Given the description of an element on the screen output the (x, y) to click on. 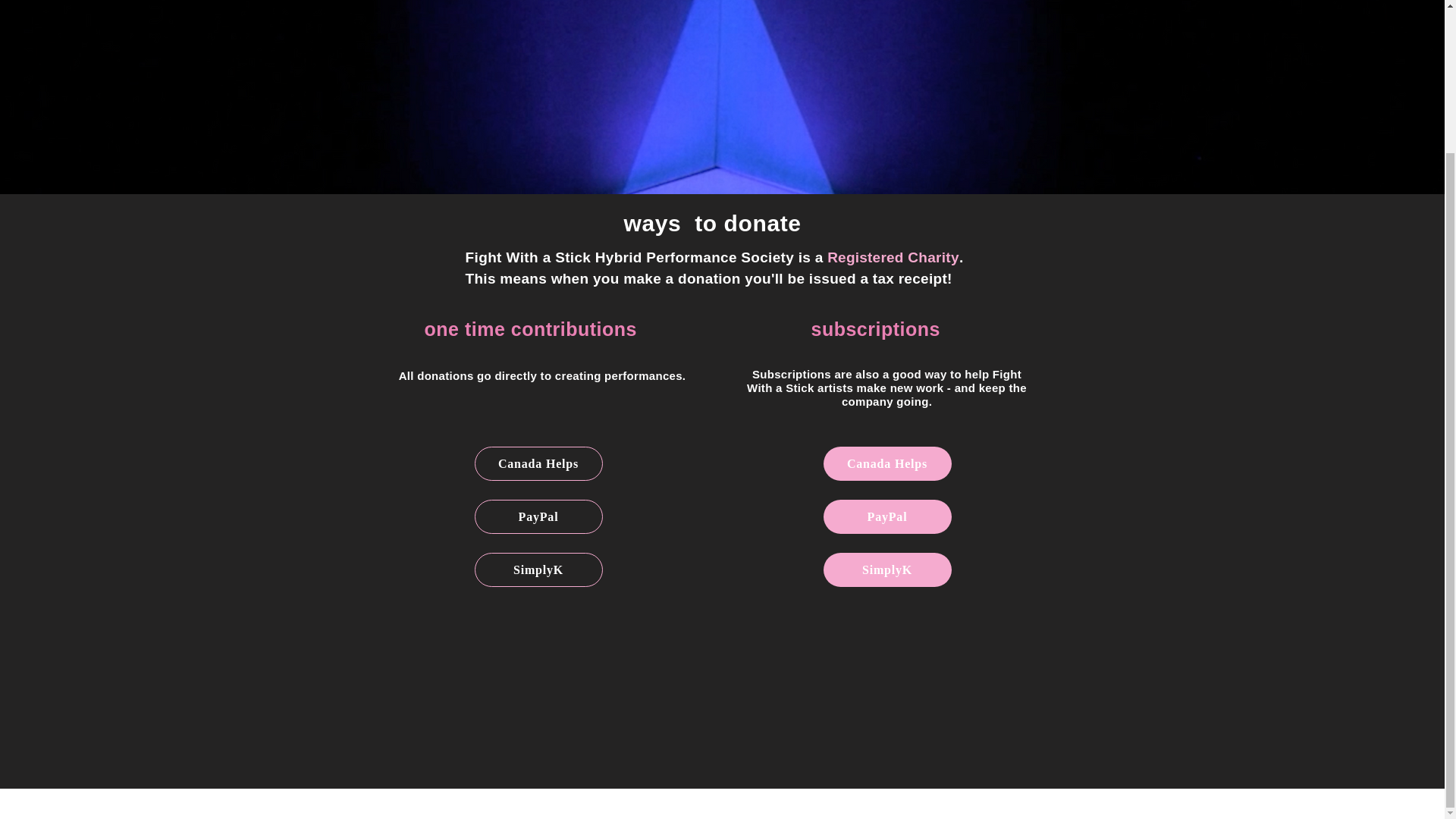
PayPal (888, 516)
Canada Helps (888, 463)
PayPal (538, 516)
SimplyK (538, 569)
SimplyK (888, 569)
Canada Helps (538, 463)
